Given the description of an element on the screen output the (x, y) to click on. 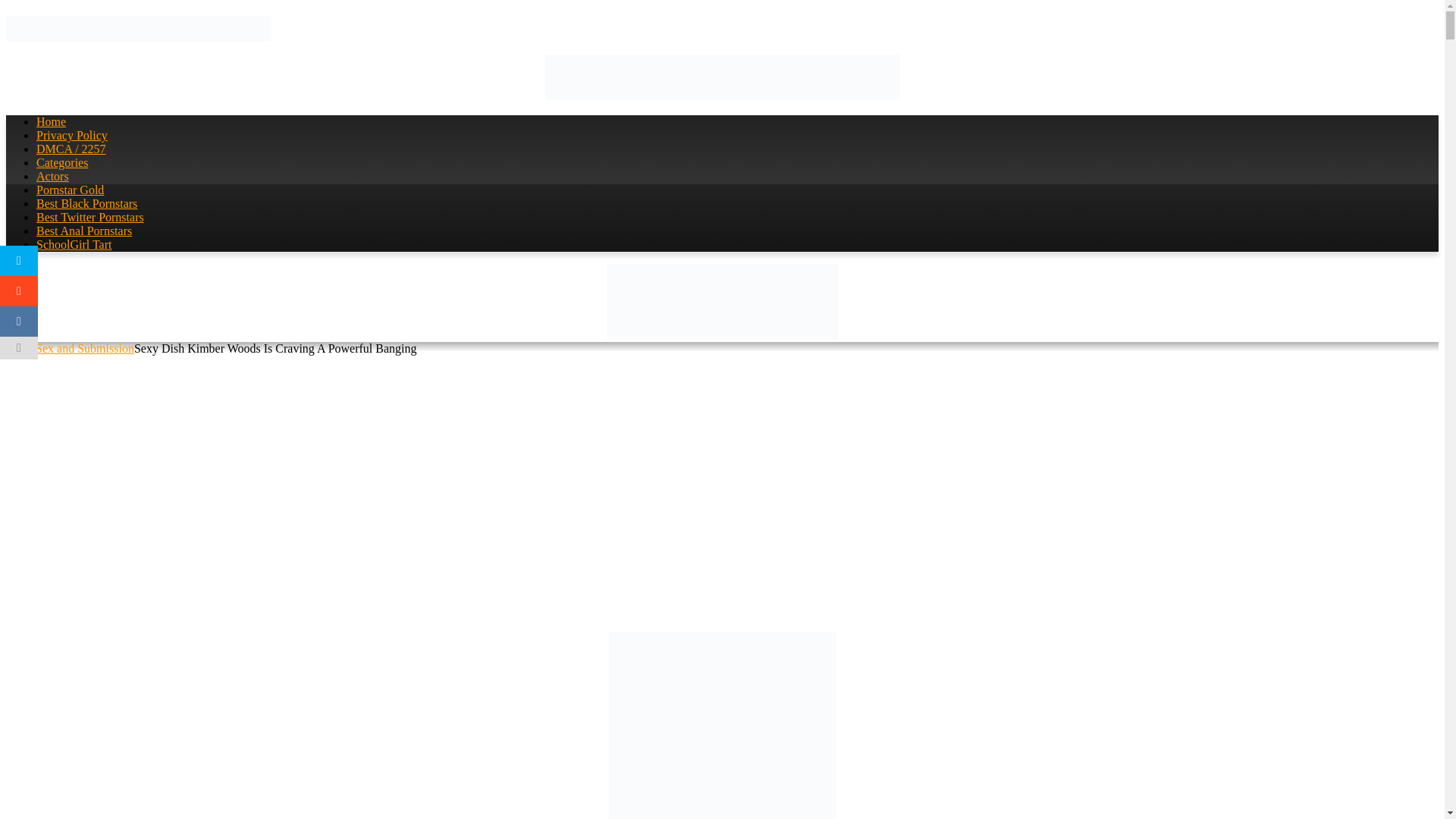
Watch Kink Unlimited on Kink.com (722, 334)
Watch Kink Unlimited on Kink.com (721, 814)
Pornstar Gold (69, 189)
Best Anal Pornstars (84, 230)
Home (50, 121)
Watch Kink Unlimited on Kink.com (721, 95)
Sex and Submission (83, 348)
Best Black Pornstars (86, 203)
Best Twitter Pornstars (90, 216)
SchoolGirl Tart (74, 244)
